Given the description of an element on the screen output the (x, y) to click on. 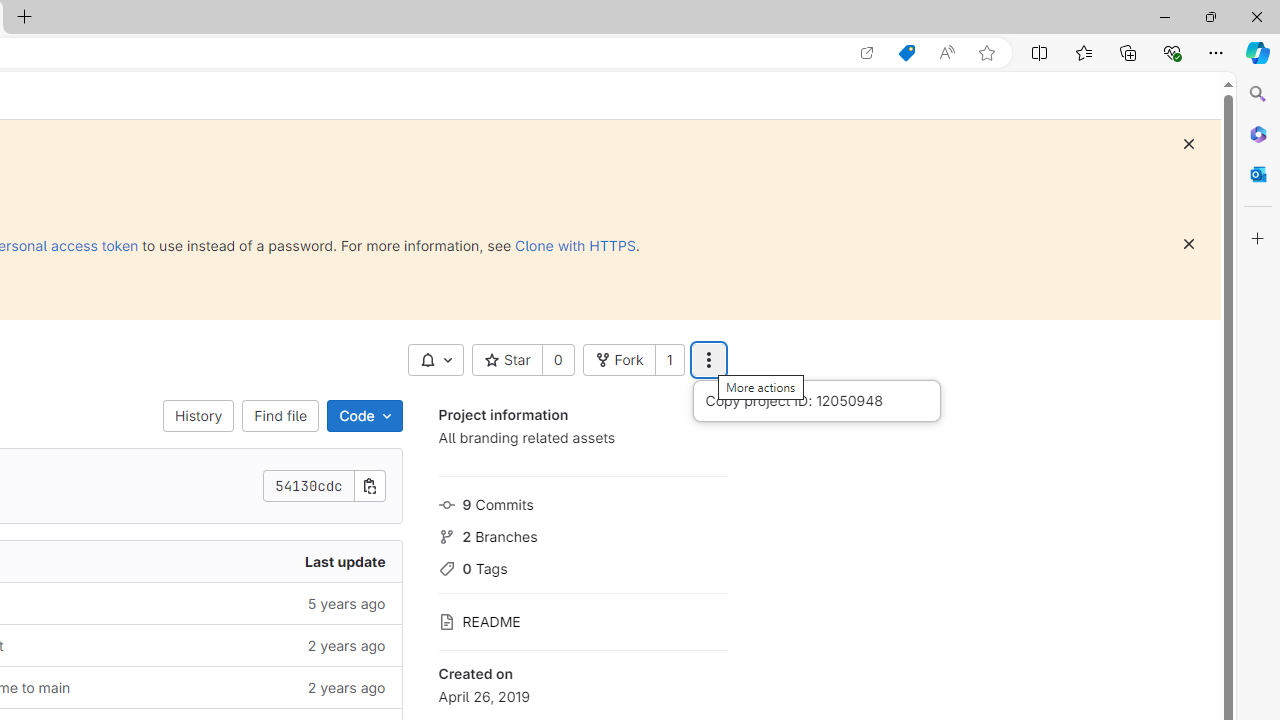
README (582, 620)
9 Commits (582, 502)
Dismiss (1188, 243)
More actions (708, 359)
5 years ago (247, 602)
Code (364, 416)
1 (669, 359)
 Star (506, 359)
2 Branches (582, 534)
0 Tags (582, 566)
